Given the description of an element on the screen output the (x, y) to click on. 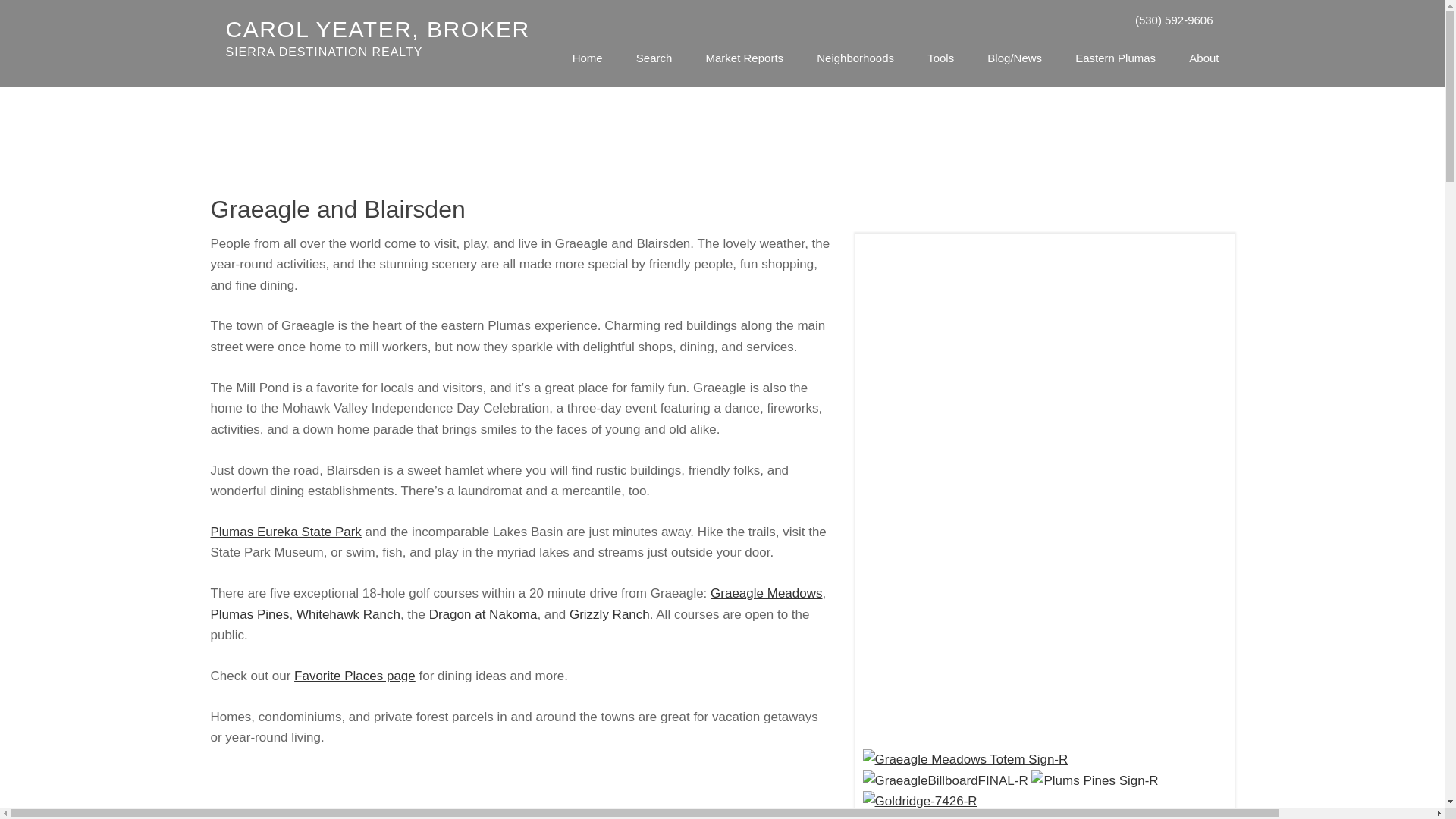
Neighborhoods (854, 58)
Search (654, 58)
Plums Pines Sign-R (1093, 780)
Goldridge-7426-R (919, 801)
Home (587, 58)
Graeagle Meadows Totem Sign-R (965, 759)
Search (654, 58)
About (1203, 58)
Market Reports (745, 58)
Home (587, 58)
Tools (940, 58)
Eastern Plumas (1115, 58)
GraeagleBillboardFINAL-R (377, 37)
